Given the description of an element on the screen output the (x, y) to click on. 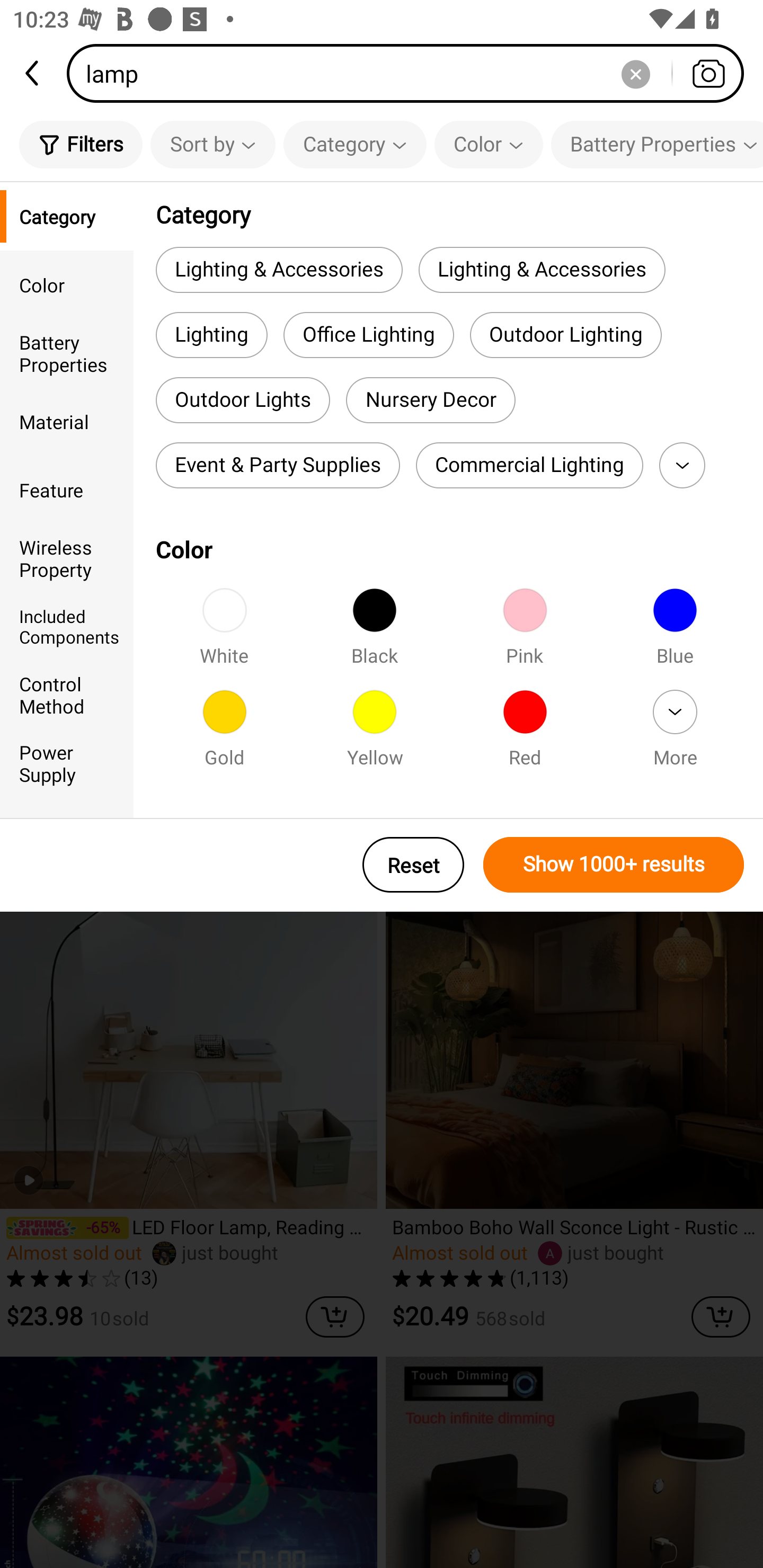
back (33, 72)
lamp (411, 73)
Delete search history (635, 73)
Search by photo (708, 73)
Filters (80, 143)
Sort by (212, 143)
Category (354, 143)
Color (488, 143)
Battery Properties (656, 143)
Category (66, 215)
Lighting & Accessories (278, 269)
Lighting & Accessories (541, 269)
Color (66, 284)
Lighting (211, 334)
Office Lighting (368, 334)
Outdoor Lighting (565, 334)
Battery Properties (66, 352)
Outdoor Lights (242, 400)
Nursery Decor (430, 400)
Material (66, 421)
Event & Party Supplies (277, 464)
Commercial Lighting (529, 464)
More (682, 464)
Feature (66, 489)
Wireless Property (66, 557)
Included Components (66, 626)
Control Method (66, 694)
More (674, 734)
Power Supply (66, 762)
Reset (412, 864)
Show 1000+ results (612, 864)
